Given the description of an element on the screen output the (x, y) to click on. 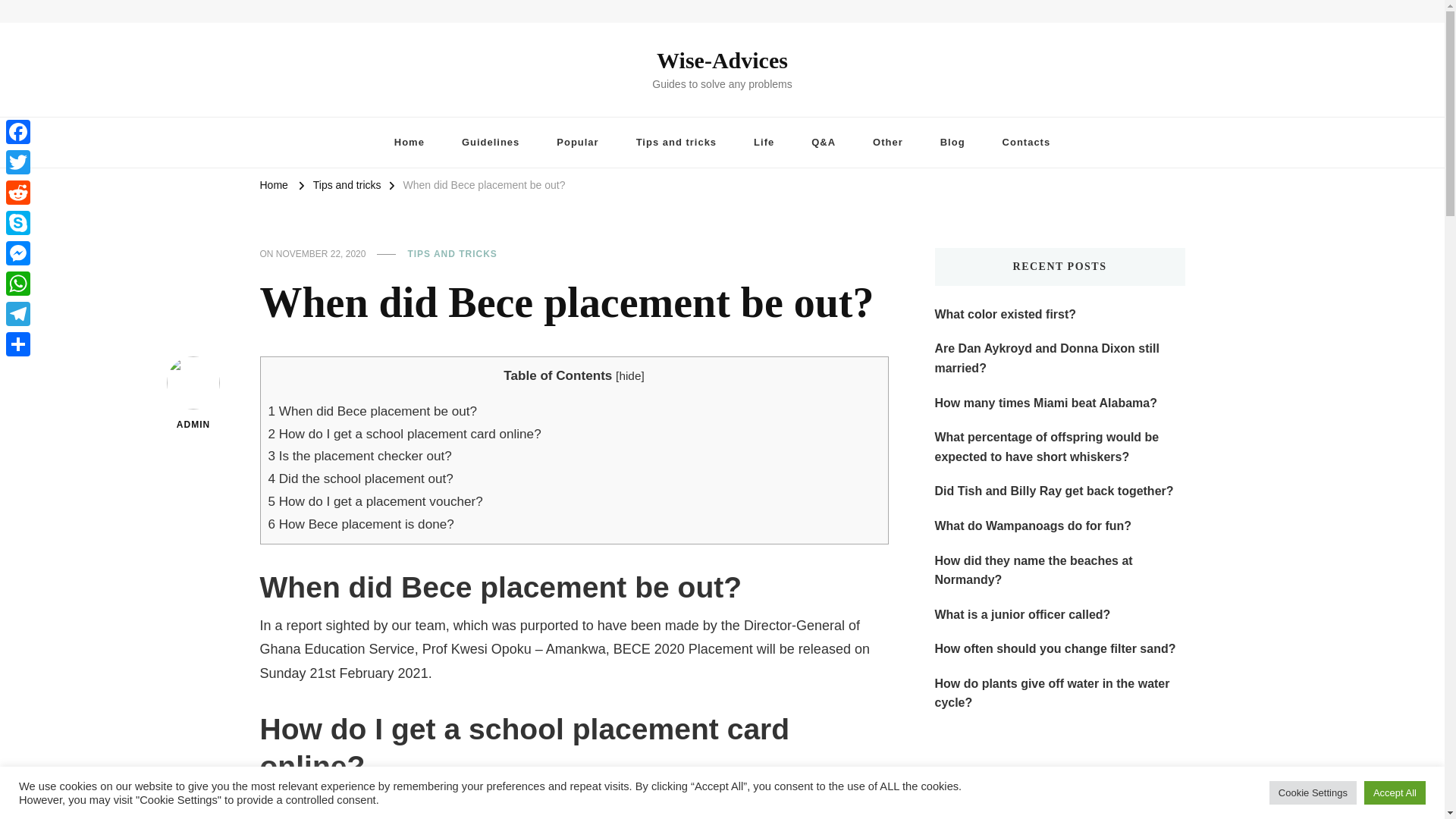
Other (888, 142)
Wise-Advices (721, 59)
Blog (952, 142)
Life (763, 142)
hide (629, 375)
Tips and tricks (676, 142)
Messenger (17, 253)
Guidelines (490, 142)
What color existed first? (1004, 314)
Contacts (1026, 142)
2 How do I get a school placement card online? (404, 432)
4 Did the school placement out? (359, 478)
When did Bece placement be out? (484, 186)
Reddit (17, 192)
TIPS AND TRICKS (451, 254)
